Given the description of an element on the screen output the (x, y) to click on. 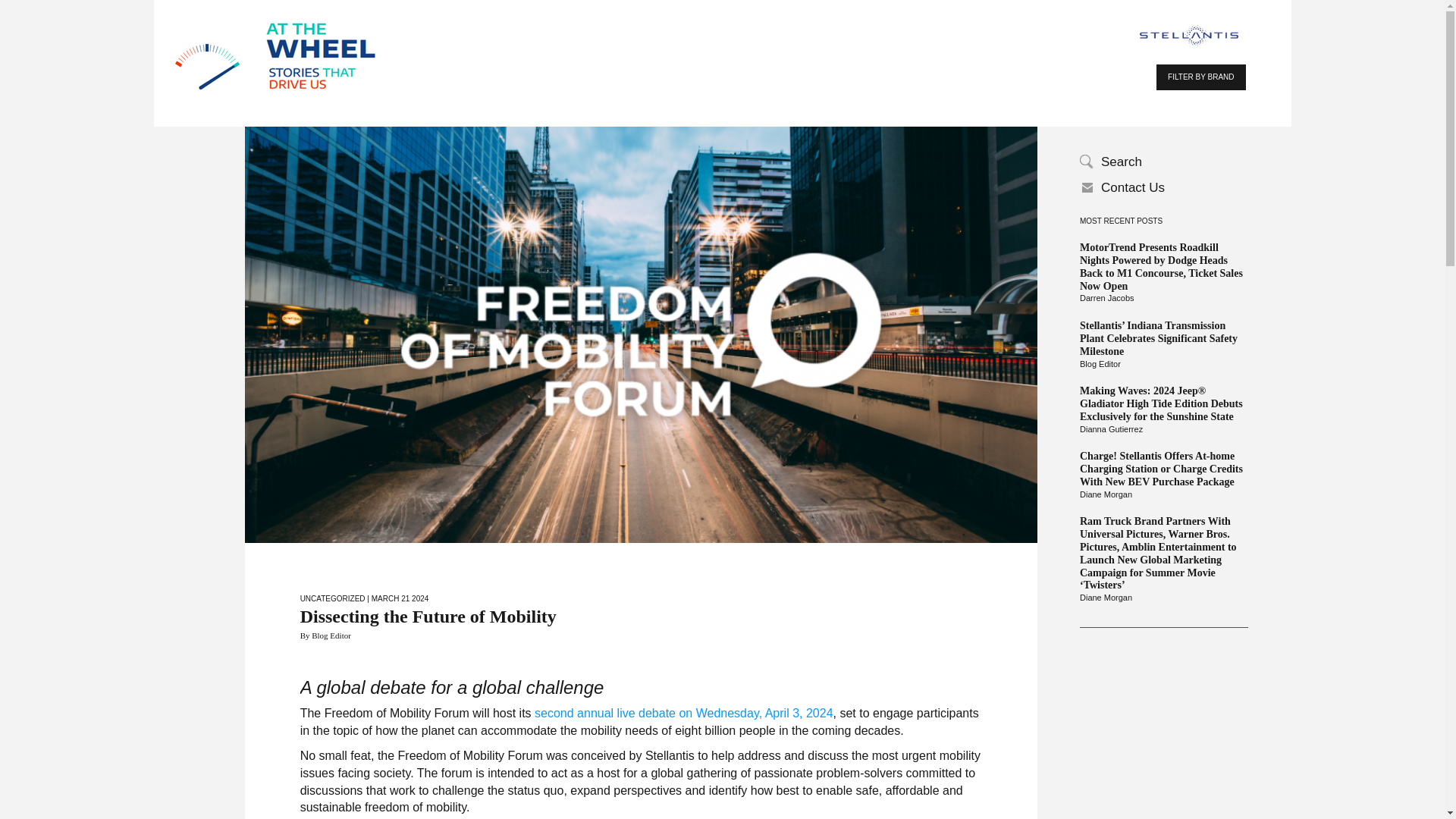
Contact Us (1163, 187)
FILTER BY BRAND (1200, 77)
Dianna Gutierrez (1163, 429)
second annual live debate on Wednesday, April 3, 2024 (683, 712)
Darren Jacobs (1163, 298)
Blog Editor (1163, 364)
Diane Morgan (1163, 494)
Diane Morgan (1163, 598)
By Blog Editor (324, 634)
Search (1163, 162)
UNCATEGORIZED (332, 598)
